Given the description of an element on the screen output the (x, y) to click on. 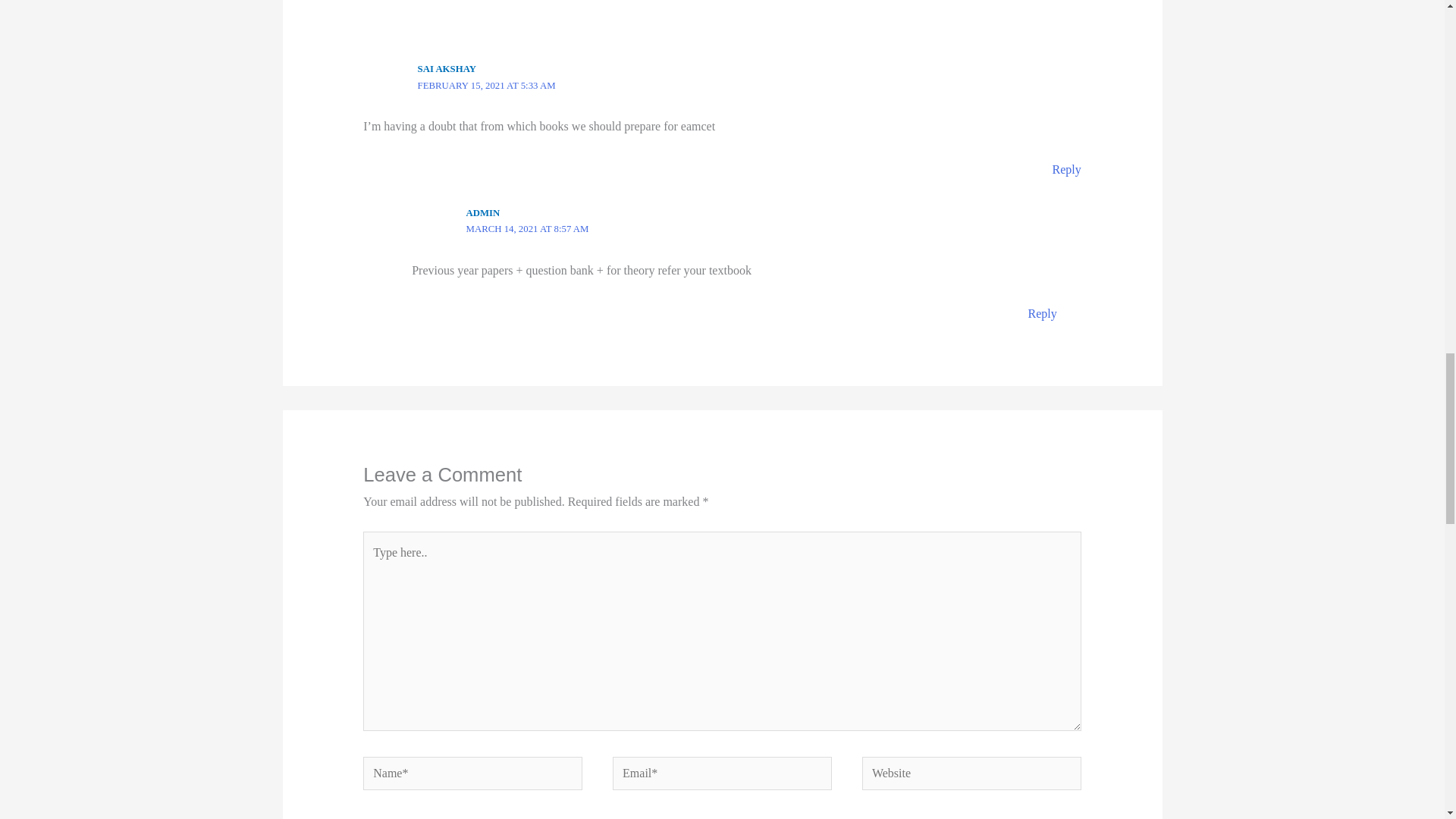
FEBRUARY 15, 2021 AT 5:33 AM (486, 85)
Reply (1066, 169)
Reply (1042, 313)
MARCH 14, 2021 AT 8:57 AM (527, 228)
